Given the description of an element on the screen output the (x, y) to click on. 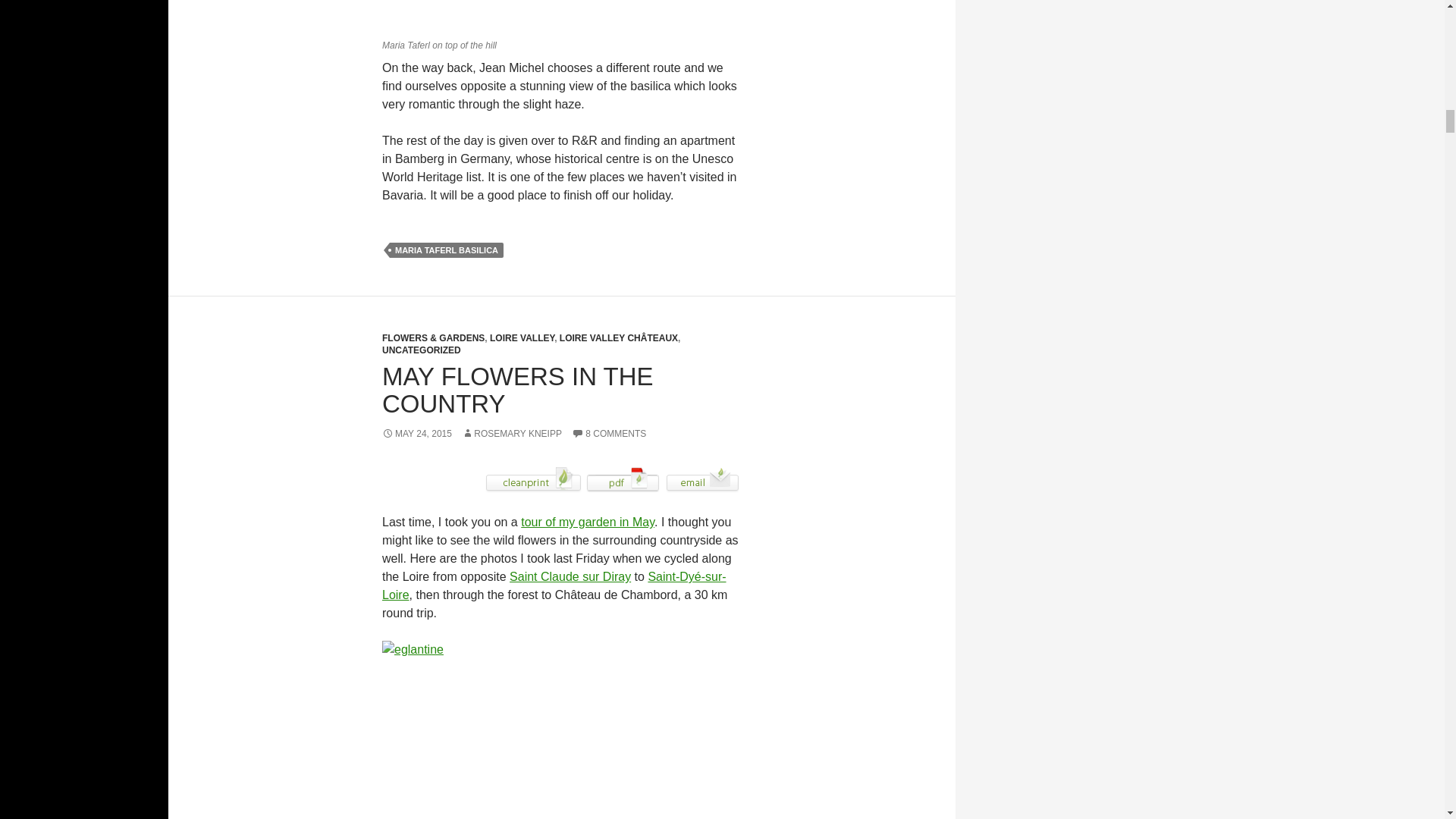
Print page (533, 478)
PDF page (623, 478)
MARIA TAFERL BASILICA (446, 249)
Email page (702, 478)
